Given the description of an element on the screen output the (x, y) to click on. 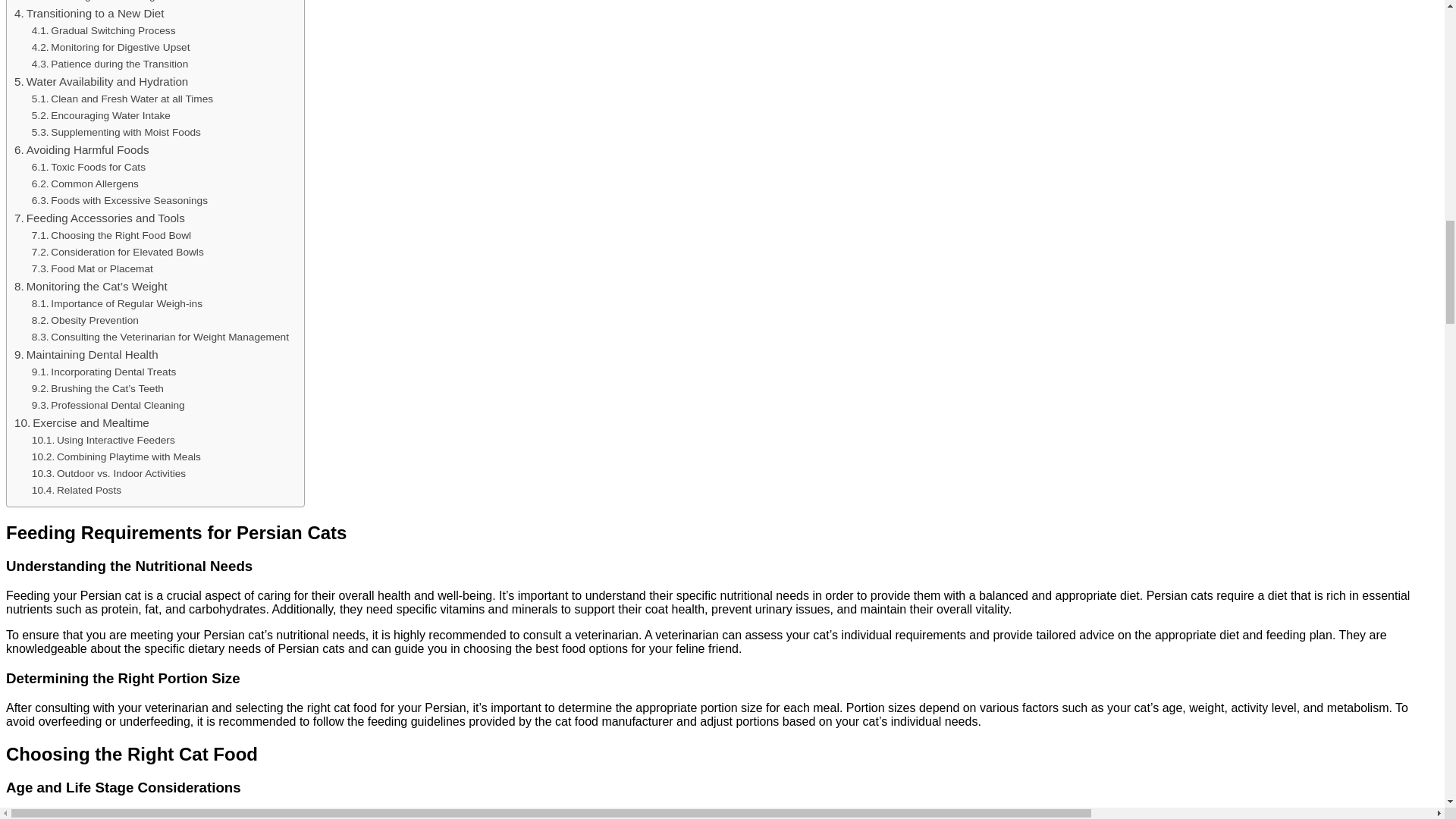
Monitoring for Digestive Upset (111, 47)
Water Availability and Hydration (100, 81)
Common Allergens (85, 184)
Choosing the Right Food Bowl (111, 235)
Monitoring for Digestive Upset (111, 47)
Consulting the Veterinarian for Weight Management (160, 337)
Patience during the Transition (109, 64)
Obesity Prevention (85, 320)
Maintaining Dental Health (86, 354)
Consideration for Elevated Bowls (117, 252)
Gradual Switching Process (104, 30)
Foods with Excessive Seasonings (120, 200)
Water Availability and Hydration (100, 81)
Patience during the Transition (109, 64)
Supplementing with Moist Foods (116, 132)
